Given the description of an element on the screen output the (x, y) to click on. 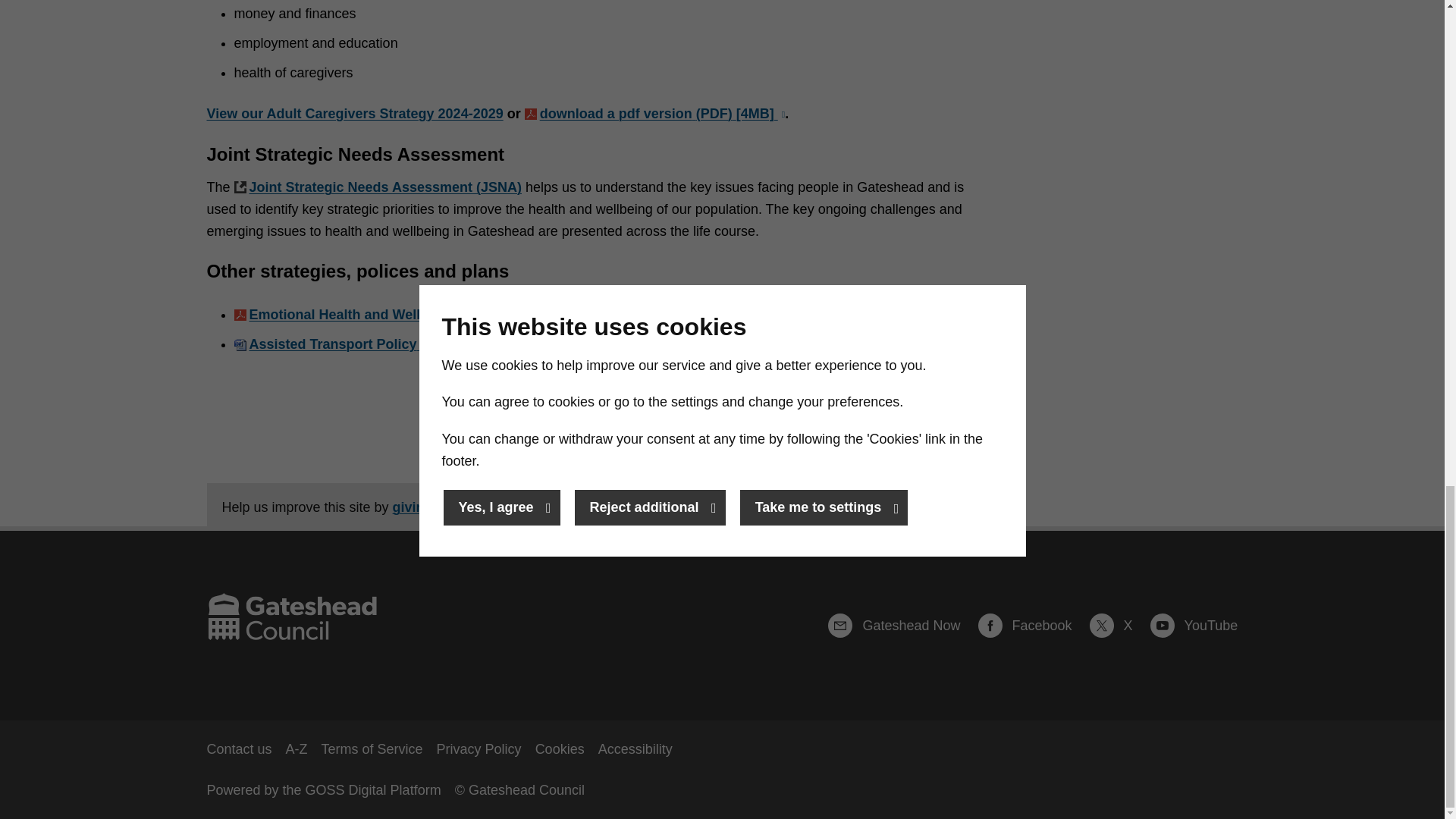
X (1118, 625)
X : opens on new browser window or tab (1118, 625)
Facebook (1032, 625)
Facebook : opens on new browser window or tab (1032, 625)
A-Z (296, 749)
Accessibility (635, 749)
Contact us (238, 749)
Privacy Policy (478, 749)
Gateshead Now (901, 625)
